Given the description of an element on the screen output the (x, y) to click on. 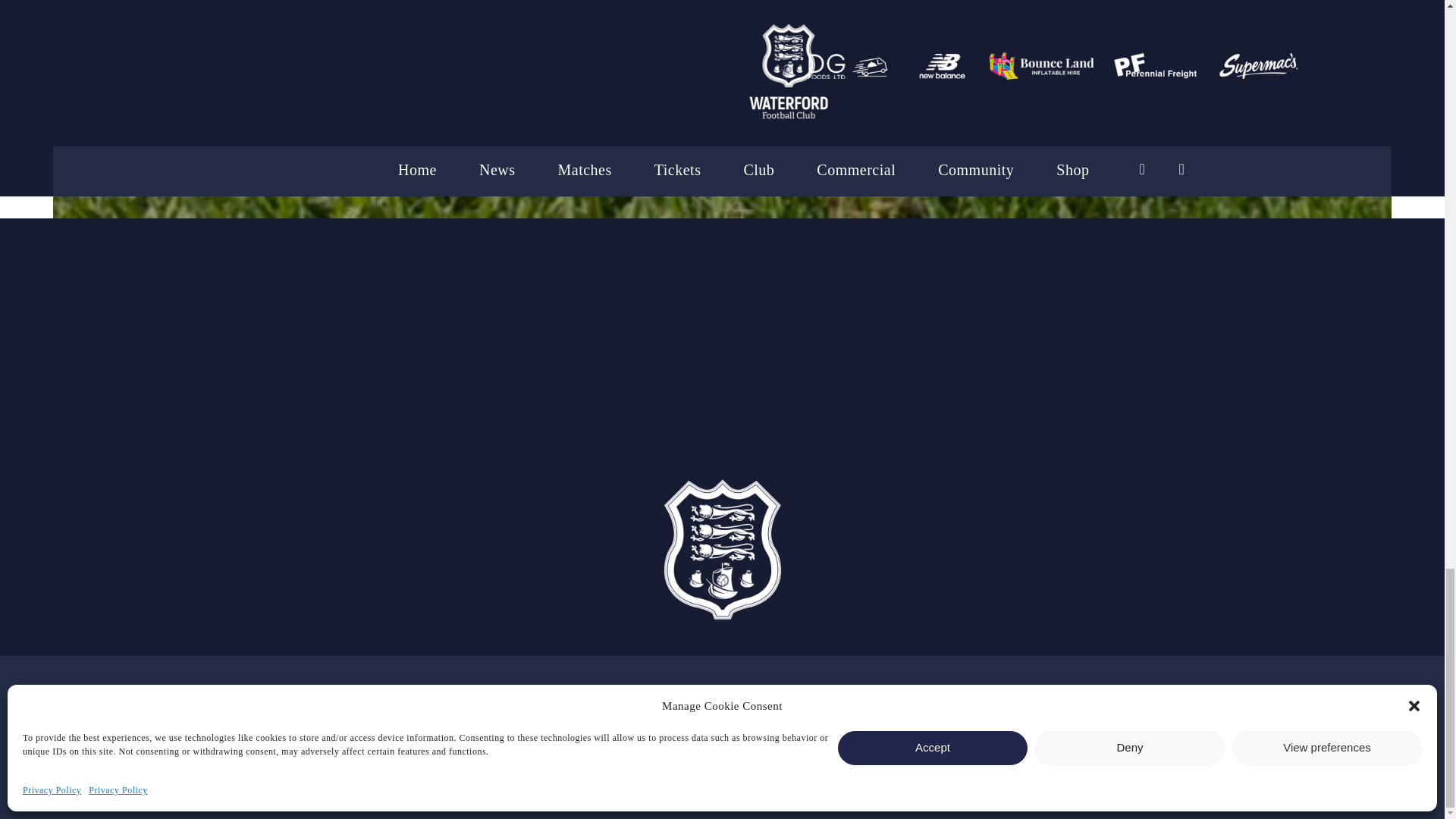
Ian Hendon Joins Coaching Staff (722, 42)
twitter (642, 709)
